Given the description of an element on the screen output the (x, y) to click on. 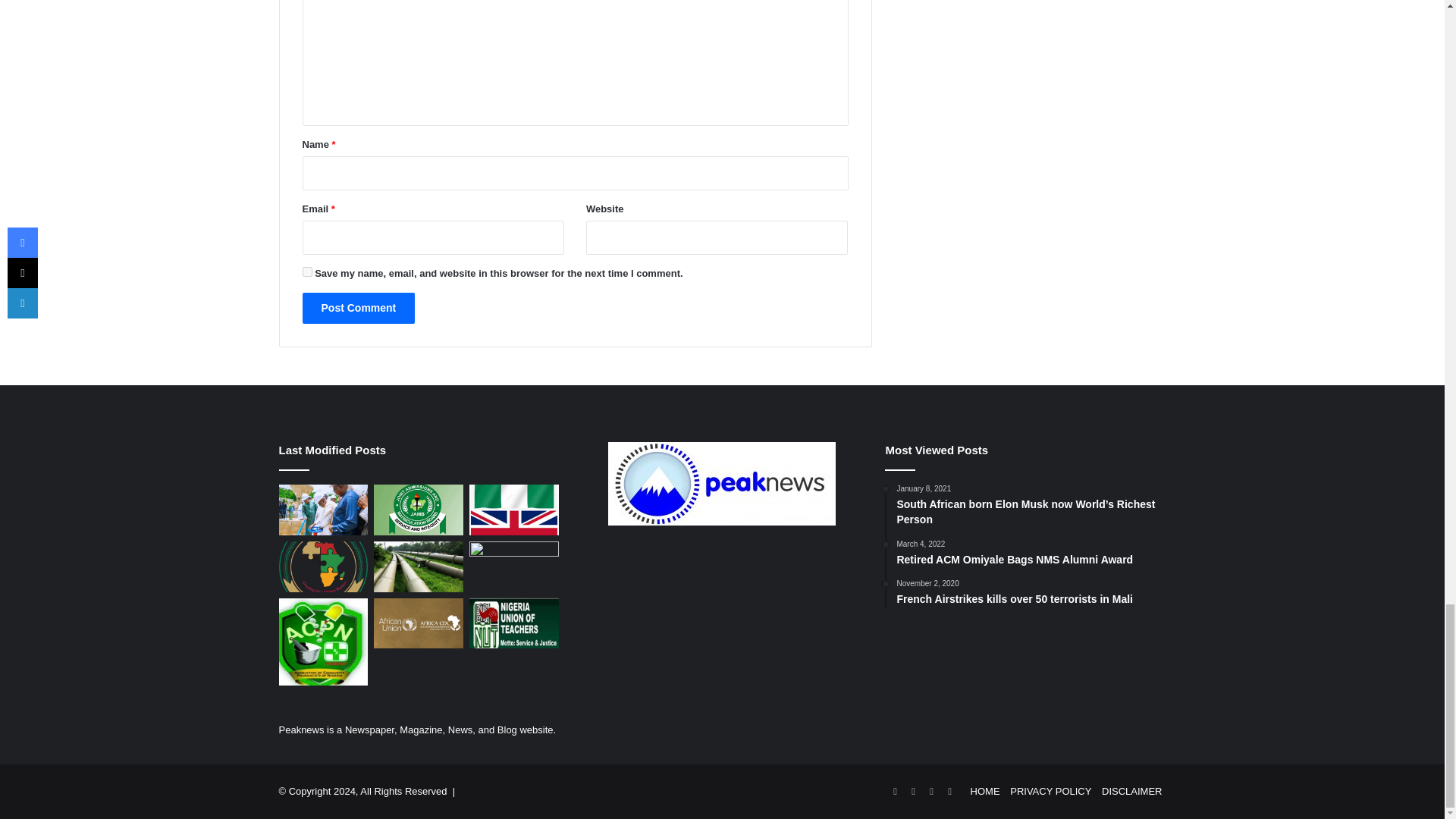
yes (306, 271)
Post Comment (357, 307)
